Given the description of an element on the screen output the (x, y) to click on. 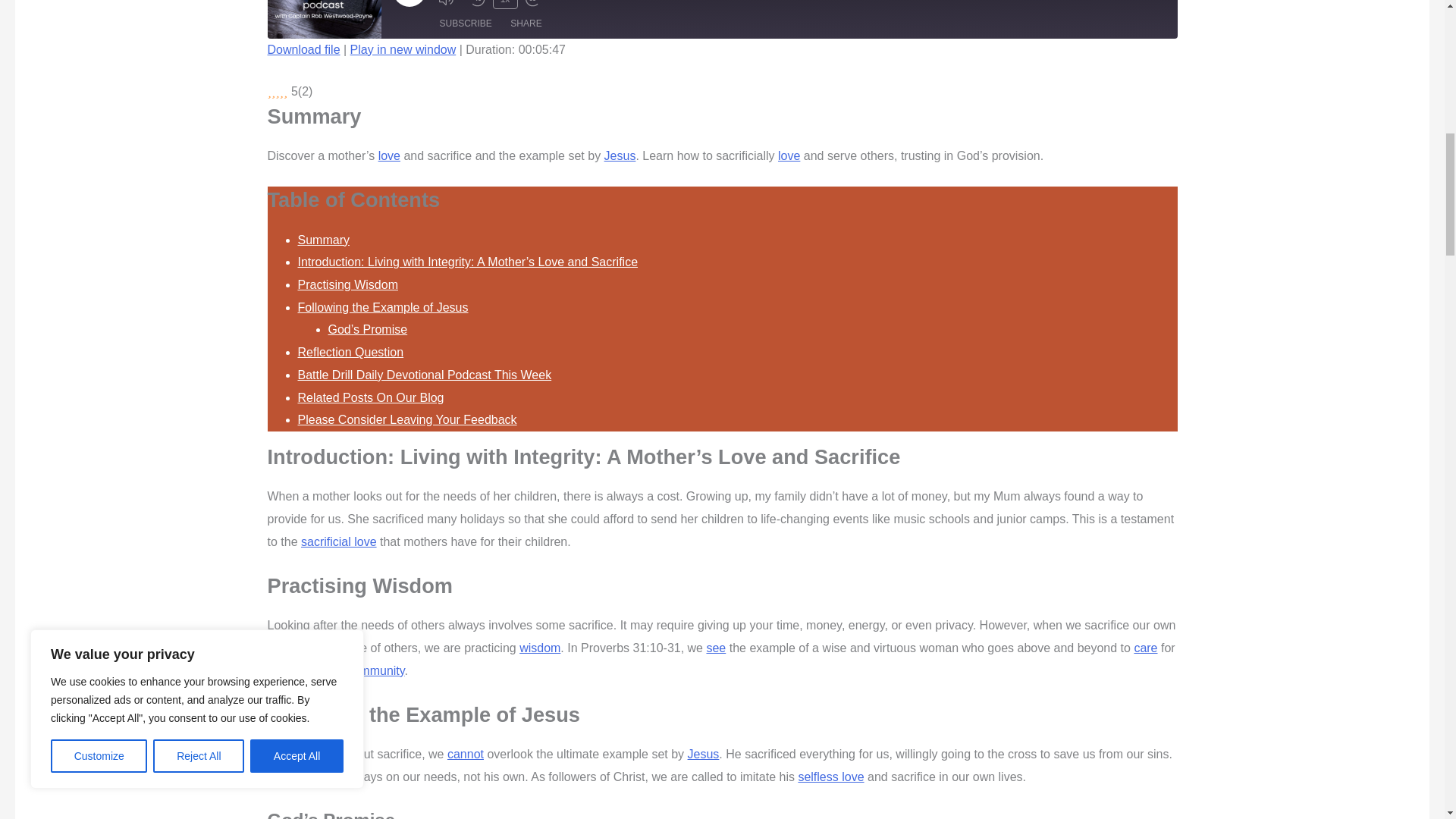
Share (525, 23)
Playback Speed (505, 4)
Fast Forward 30 seconds (536, 3)
Play (409, 3)
Subscribe (465, 23)
Battle Drill Devotional (323, 19)
Rewind 10 seconds (477, 3)
